Given the description of an element on the screen output the (x, y) to click on. 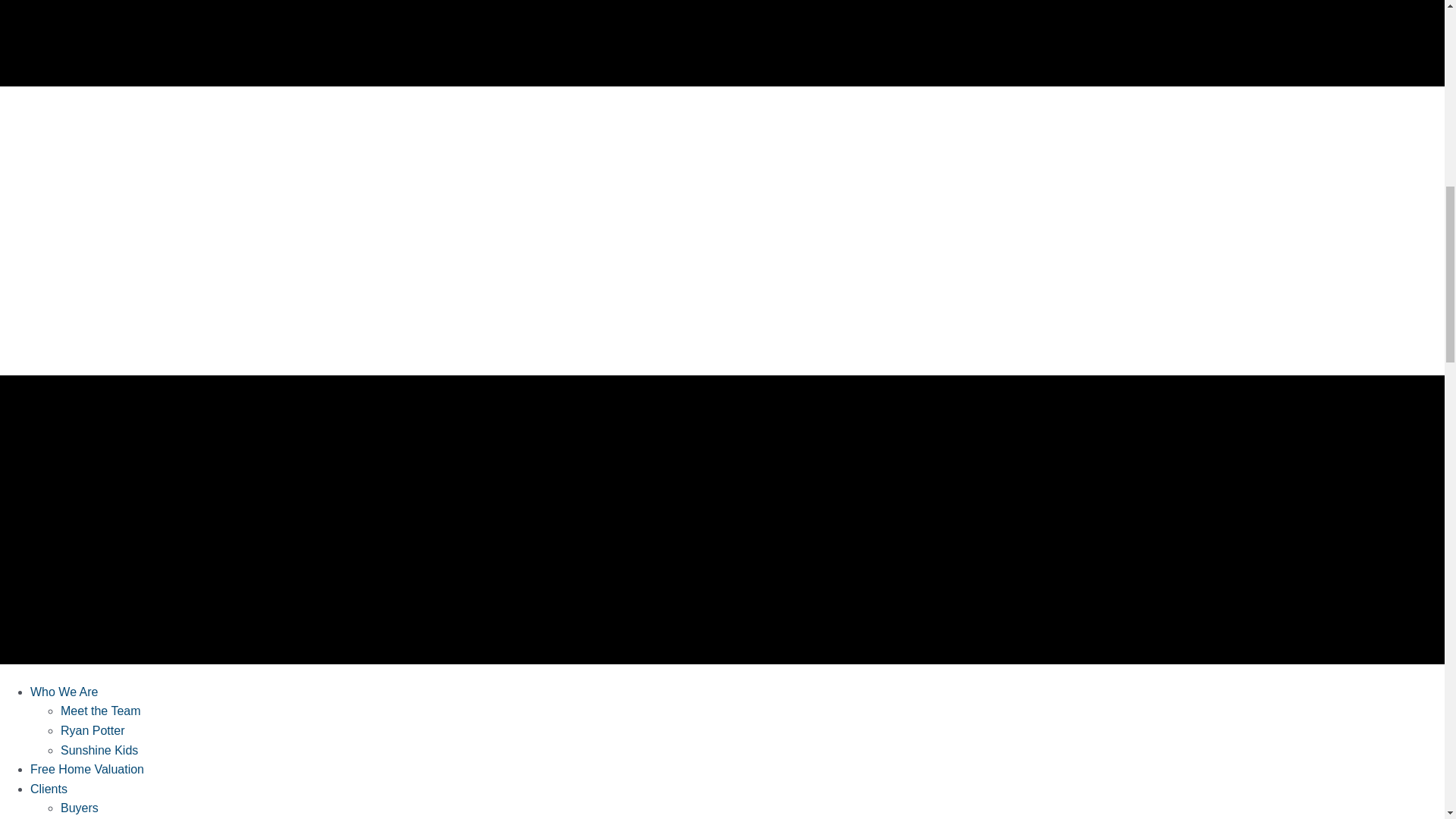
Buyers (80, 807)
Clients (48, 788)
Sunshine Kids (99, 749)
Ryan Potter (92, 730)
Meet the Team (101, 710)
Free Home Valuation (87, 768)
Who We Are (64, 691)
